Given the description of an element on the screen output the (x, y) to click on. 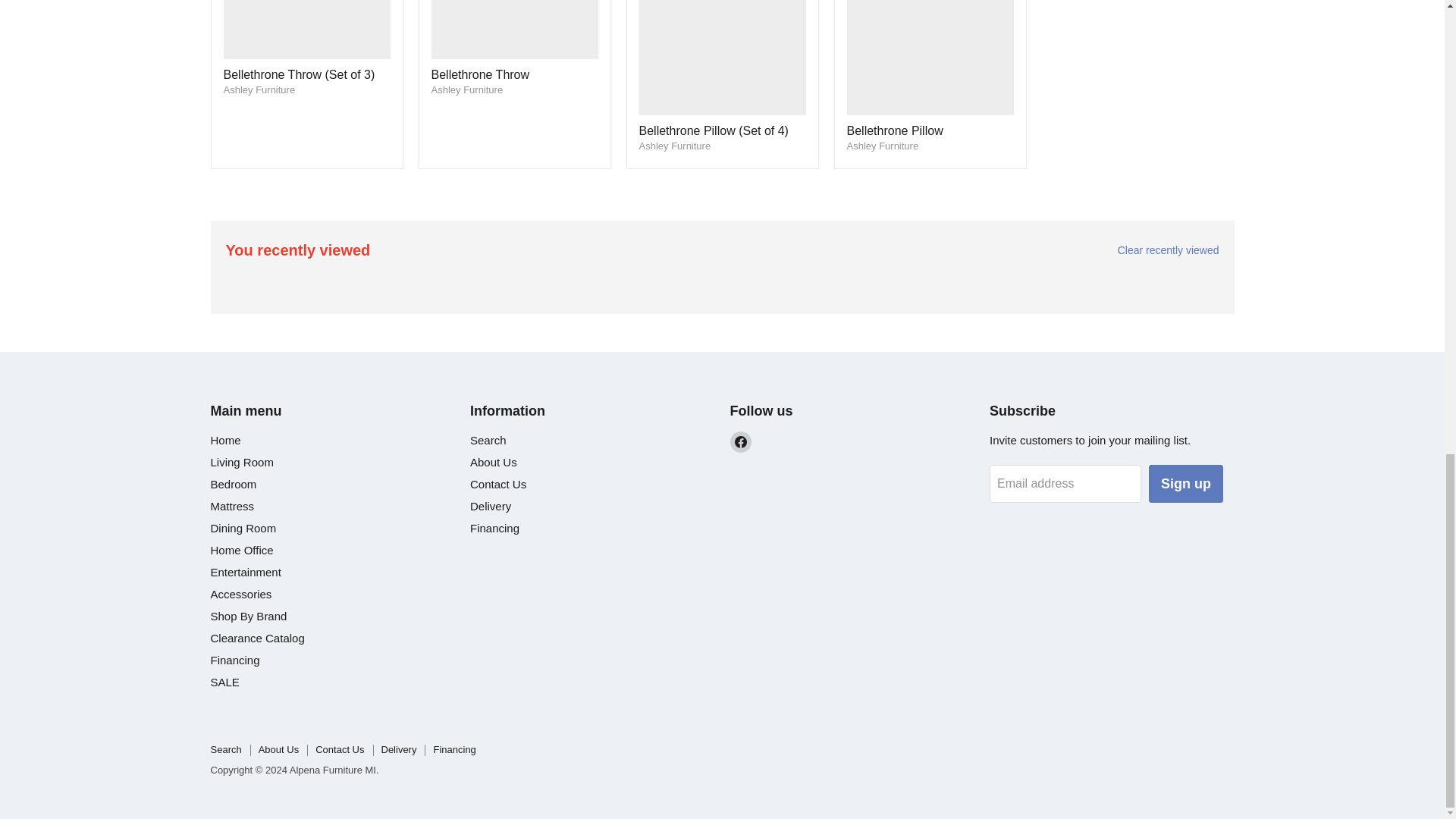
Ashley Furniture (674, 145)
Ashley Furniture (258, 89)
Ashley Furniture (881, 145)
Ashley Furniture (466, 89)
Facebook (740, 441)
